Given the description of an element on the screen output the (x, y) to click on. 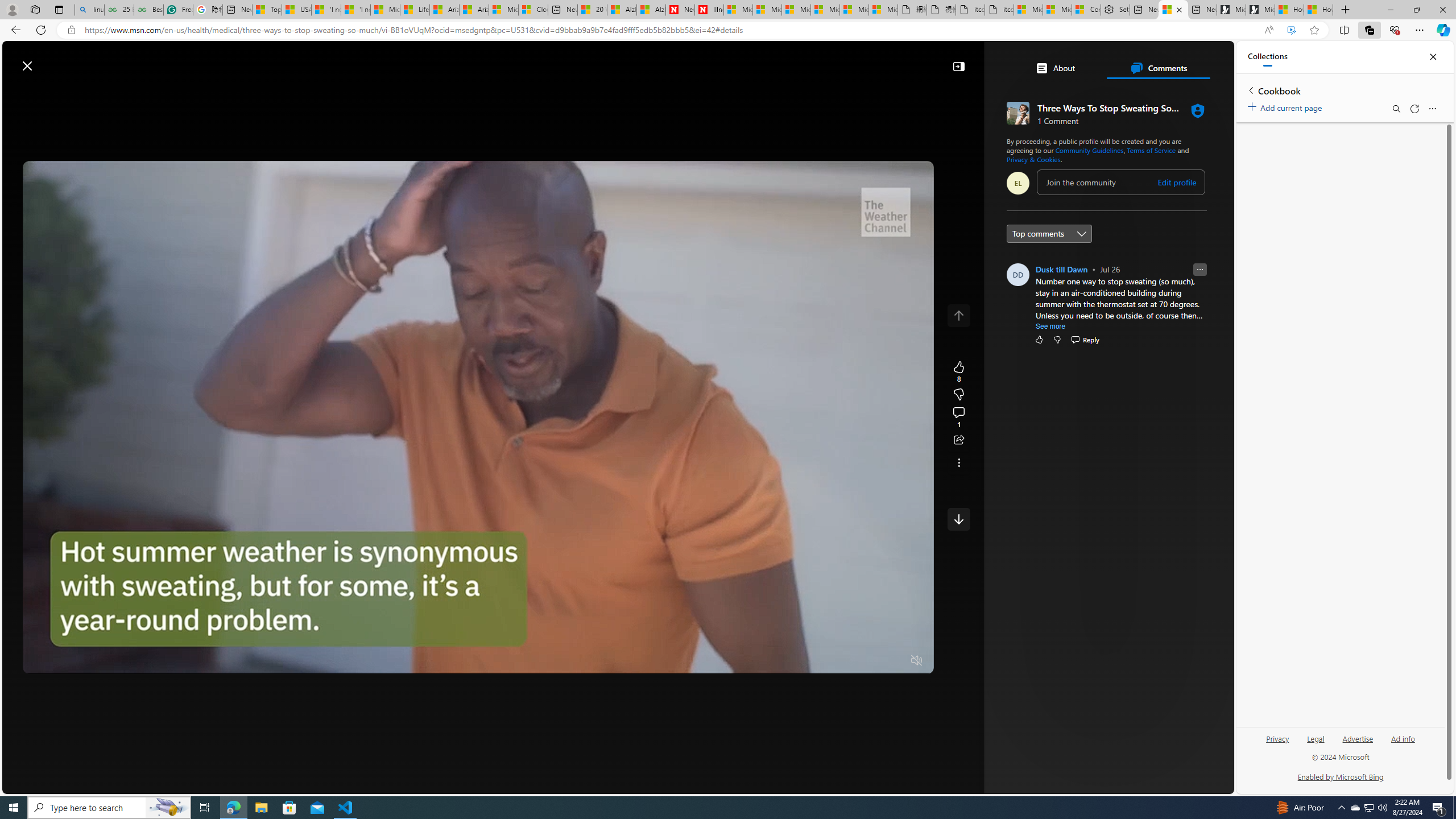
Comments (1157, 67)
Share this story (958, 440)
linux basic - Search (89, 9)
See more (1050, 326)
Watch (311, 92)
Following (263, 92)
Ad (1053, 601)
About (1054, 67)
Ad Choice (1195, 601)
